Given the description of an element on the screen output the (x, y) to click on. 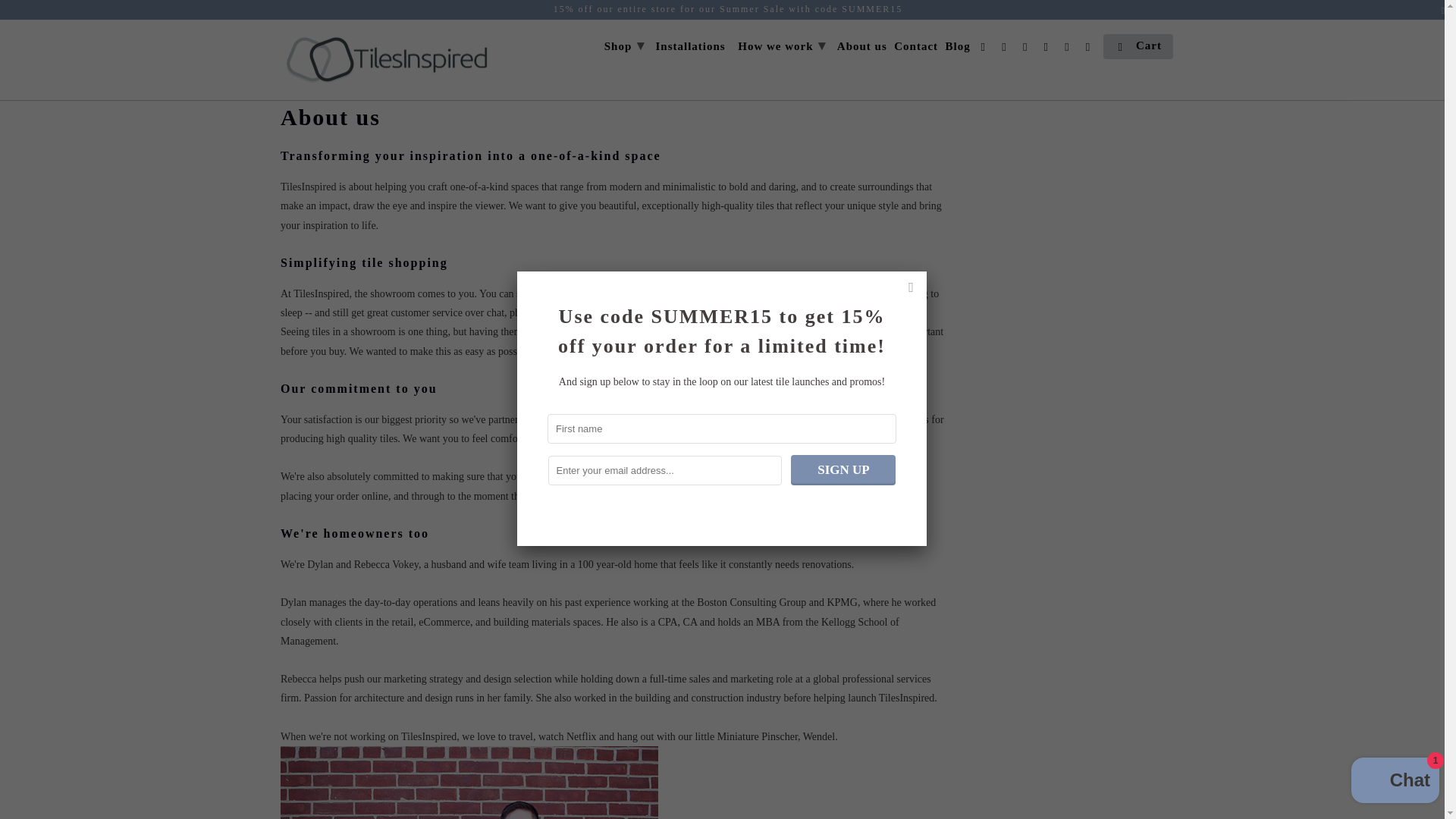
Email TilesInspired (1047, 49)
TilesInspired on Instagram (1026, 49)
TilesInspired (387, 60)
Shopify online store chat (1395, 781)
TilesInspired on Facebook (983, 49)
TilesInspired on Pinterest (1004, 49)
My Account  (1068, 49)
Search (1088, 49)
Sign Up (842, 470)
